Given the description of an element on the screen output the (x, y) to click on. 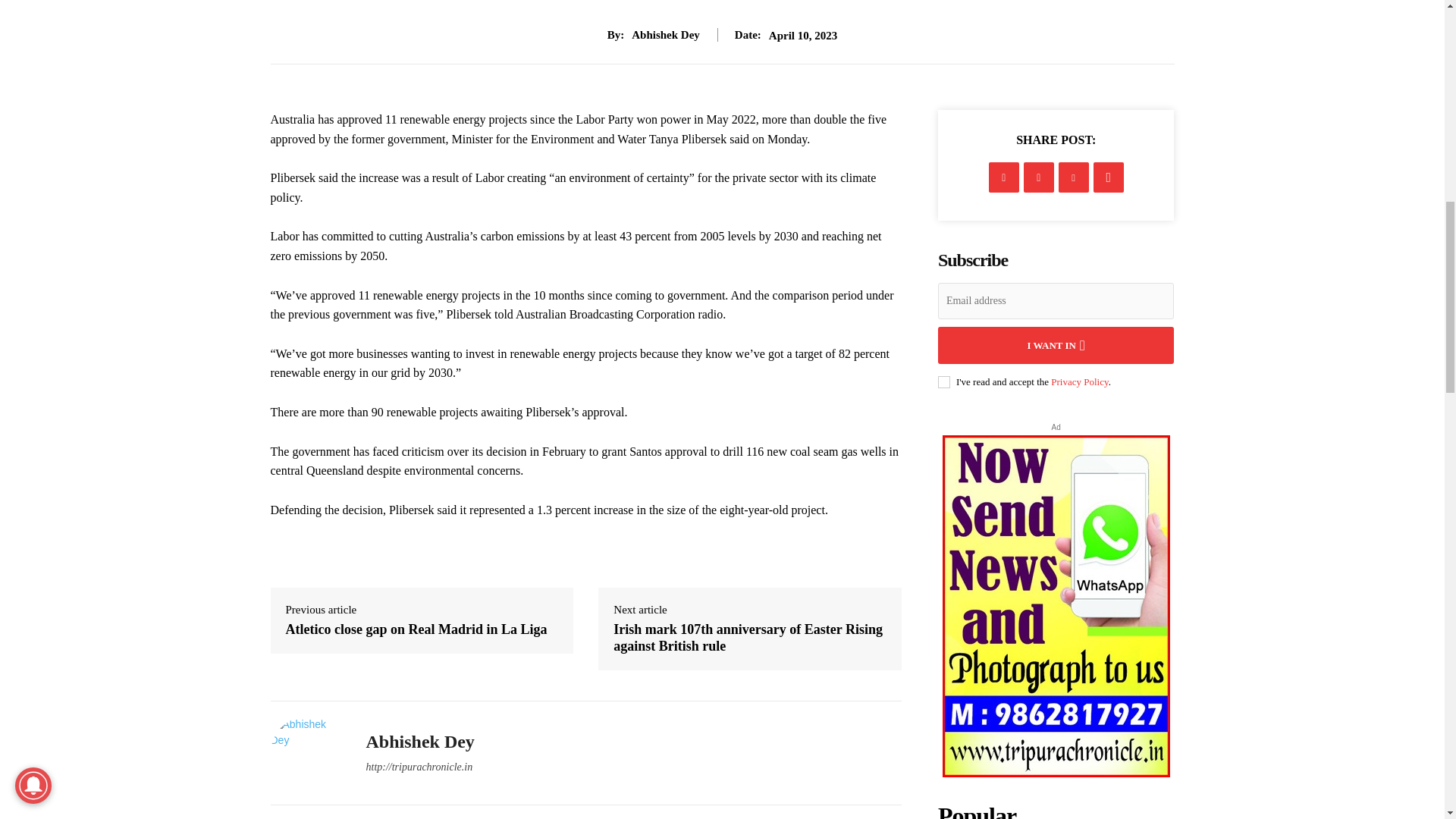
Facebook (1003, 177)
WhatsApp (1108, 177)
Twitter (1038, 177)
Pinterest (1073, 177)
Abhishek Dey (305, 752)
